Given the description of an element on the screen output the (x, y) to click on. 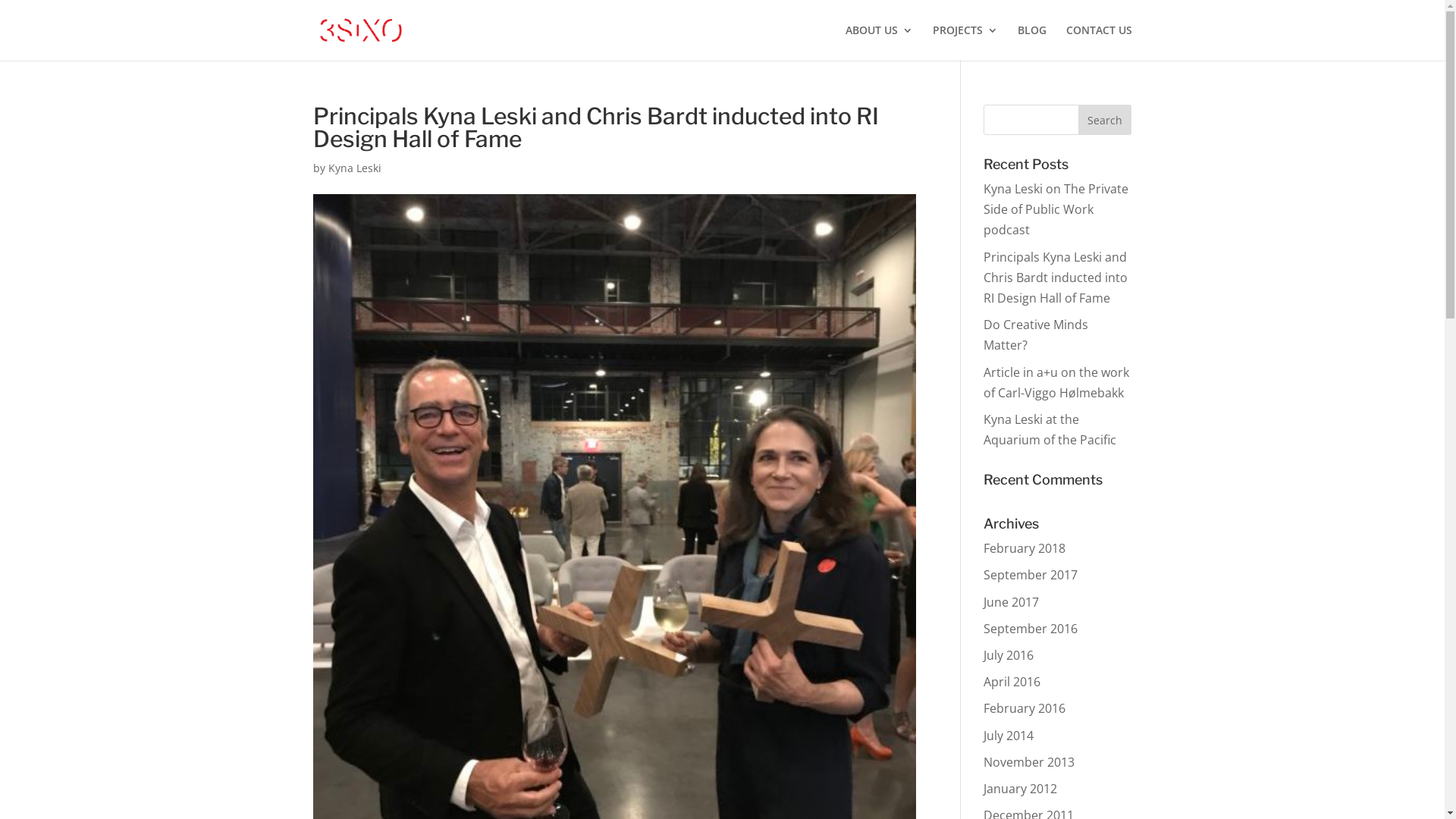
September 2016 Element type: text (1030, 628)
February 2018 Element type: text (1024, 547)
Kyna Leski Element type: text (353, 167)
July 2016 Element type: text (1008, 654)
February 2016 Element type: text (1024, 707)
July 2014 Element type: text (1008, 735)
April 2016 Element type: text (1011, 681)
Kyna Leski on The Private Side of Public Work podcast Element type: text (1055, 209)
BLOG Element type: text (1031, 42)
January 2012 Element type: text (1020, 788)
Kyna Leski at the Aquarium of the Pacific Element type: text (1049, 429)
June 2017 Element type: text (1010, 601)
PROJECTS Element type: text (964, 42)
Do Creative Minds Matter? Element type: text (1035, 334)
November 2013 Element type: text (1028, 761)
Search Element type: text (1104, 119)
September 2017 Element type: text (1030, 574)
CONTACT US Element type: text (1099, 42)
ABOUT US Element type: text (878, 42)
